Given the description of an element on the screen output the (x, y) to click on. 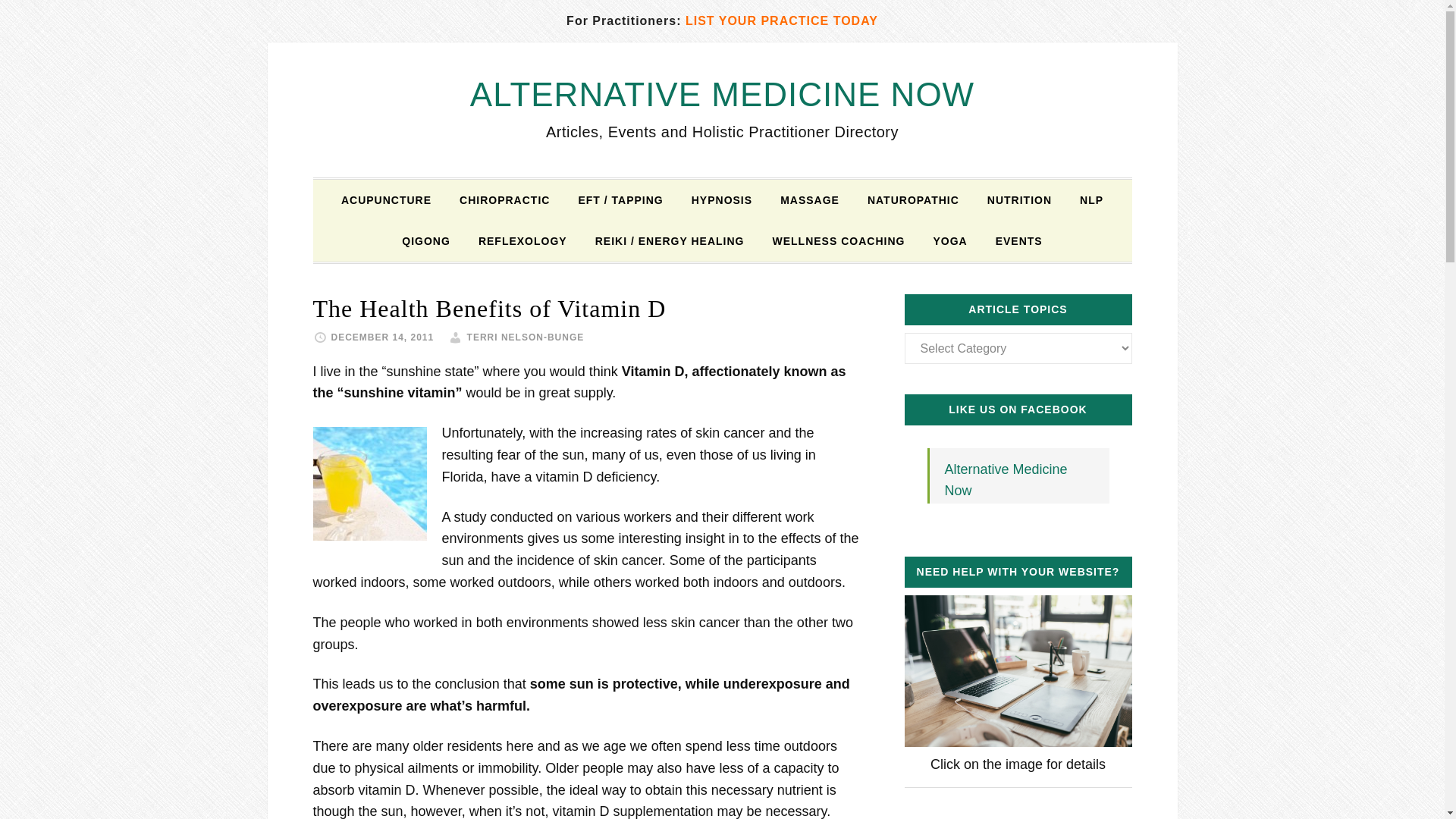
EVENTS (1019, 240)
ALTERNATIVE MEDICINE NOW (722, 94)
MASSAGE (809, 199)
ACUPUNCTURE (386, 199)
NATUROPATHIC (913, 199)
Alternative Medicine Now (1005, 479)
WELLNESS COACHING (838, 240)
HYPNOSIS (721, 199)
NUTRITION (1019, 199)
YOGA (949, 240)
CHIROPRACTIC (504, 199)
QIGONG (426, 240)
NLP (1091, 199)
TERRI NELSON-BUNGE (526, 337)
REFLEXOLOGY (522, 240)
